Given the description of an element on the screen output the (x, y) to click on. 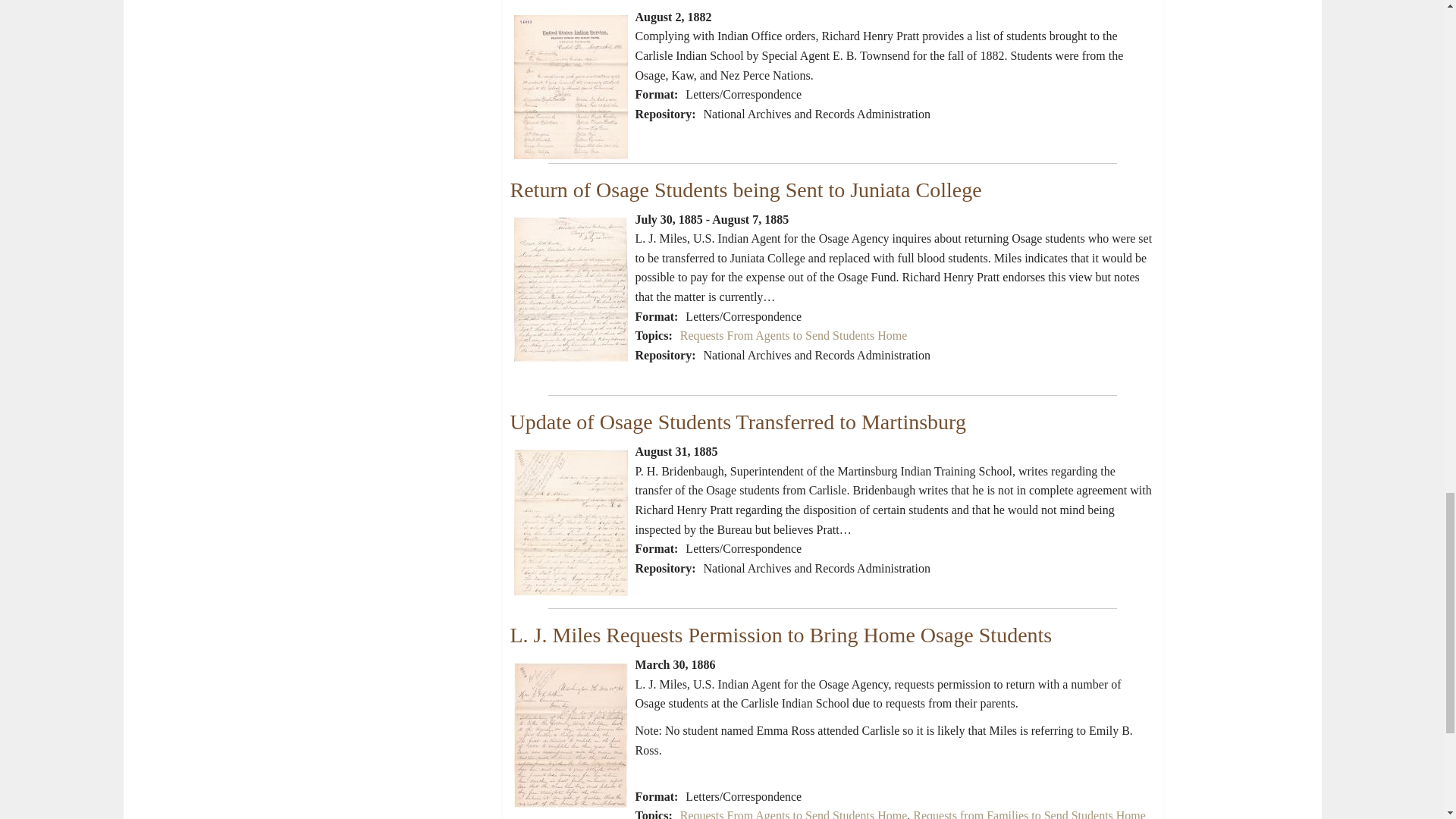
Requests from Families to Send Students Home (1028, 814)
Requests From Agents to Send Students Home (793, 335)
Return of Osage Students being Sent to Juniata College (745, 189)
Update of Osage Students Transferred to Martinsburg (737, 422)
Requests From Agents to Send Students Home (793, 814)
L. J. Miles Requests Permission to Bring Home Osage Students (780, 635)
